Given the description of an element on the screen output the (x, y) to click on. 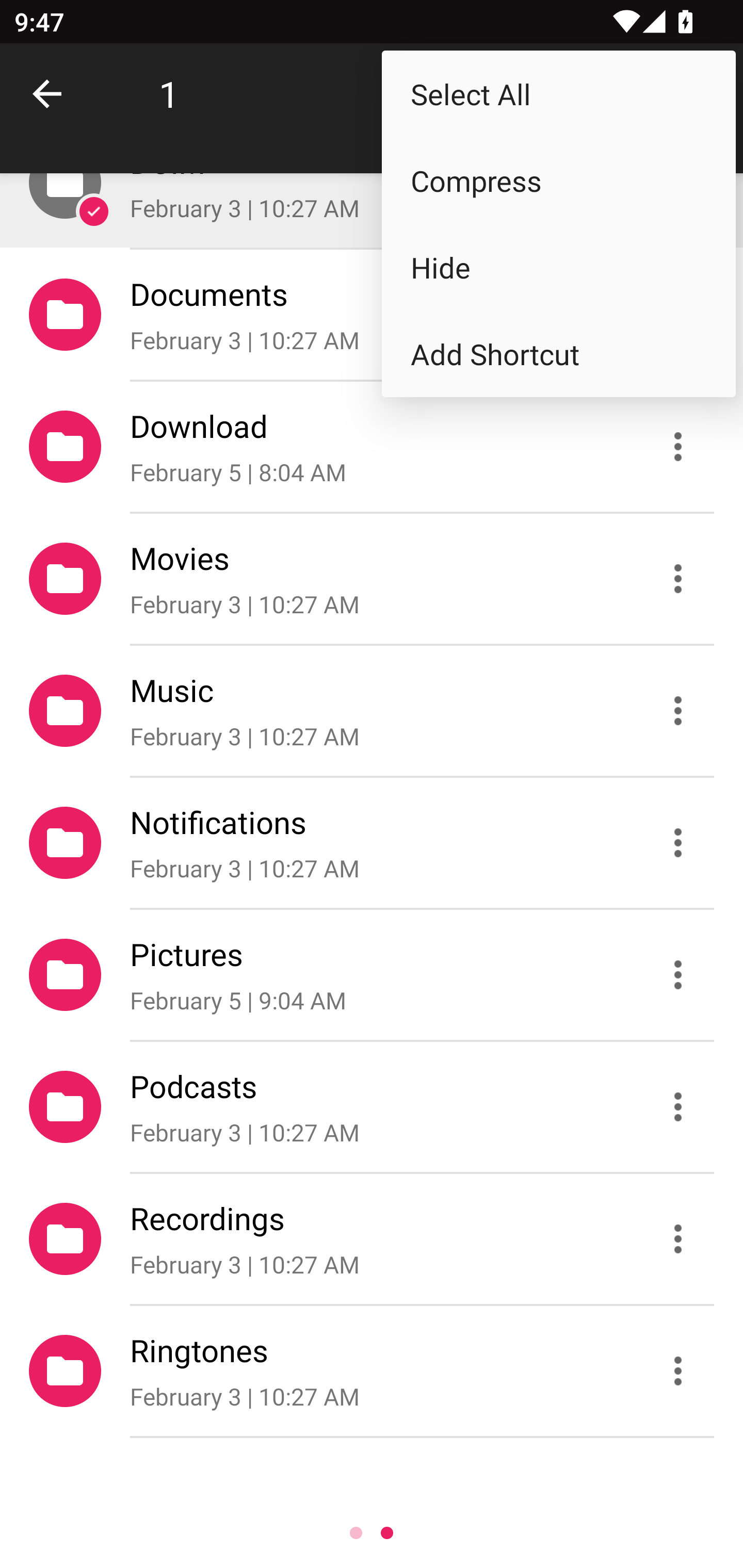
Select All (558, 93)
Compress (558, 180)
Hide (558, 267)
Add Shortcut (558, 353)
